Given the description of an element on the screen output the (x, y) to click on. 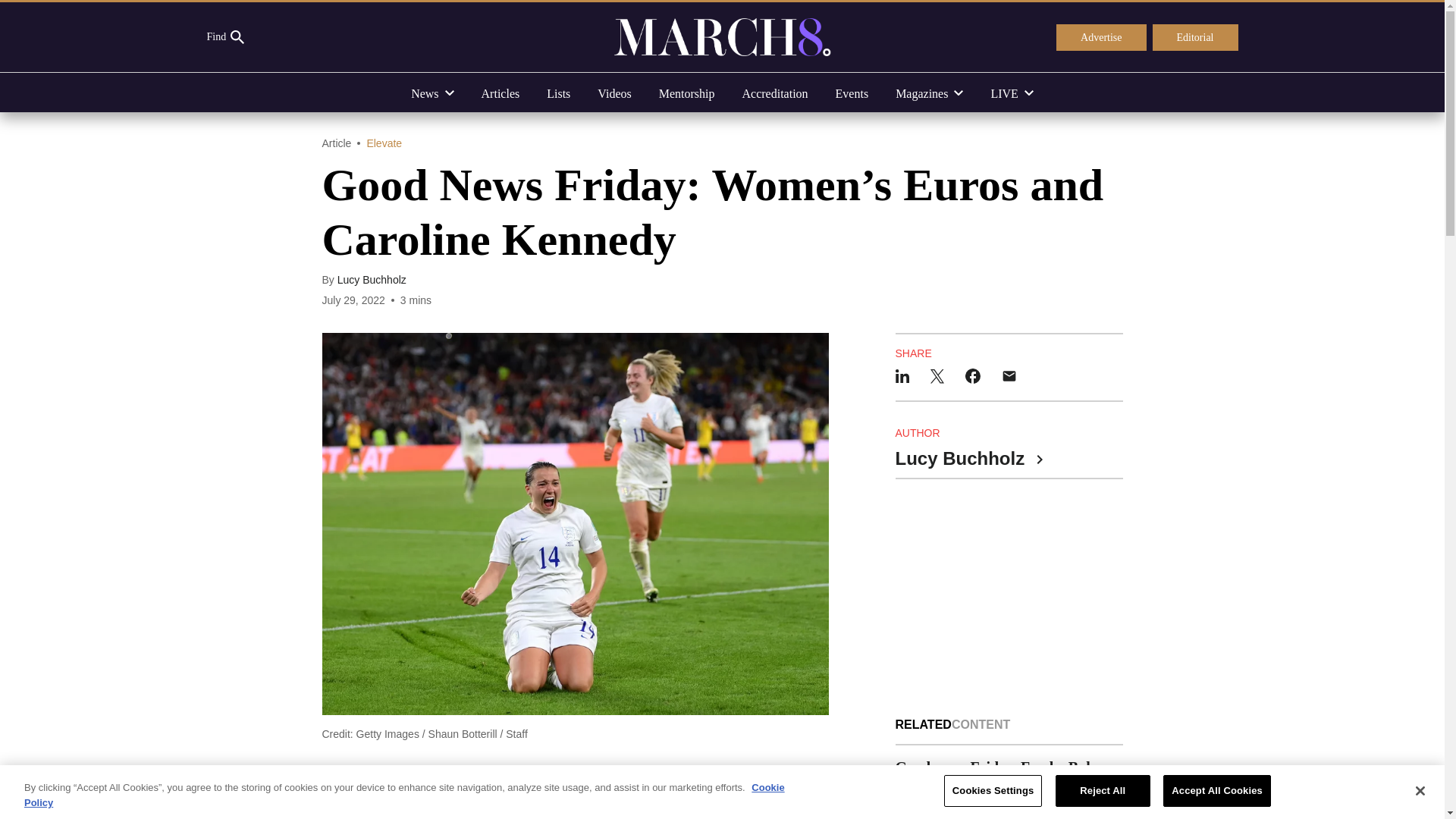
Advertise (1101, 37)
News (432, 92)
Editorial (1196, 37)
Lucy Buchholz (371, 279)
Magazines (929, 92)
Events (852, 92)
Videos (614, 92)
Find (225, 37)
Accreditation (774, 92)
Mentorship (687, 92)
Lists (557, 92)
LIVE (1011, 92)
Articles (500, 92)
